Given the description of an element on the screen output the (x, y) to click on. 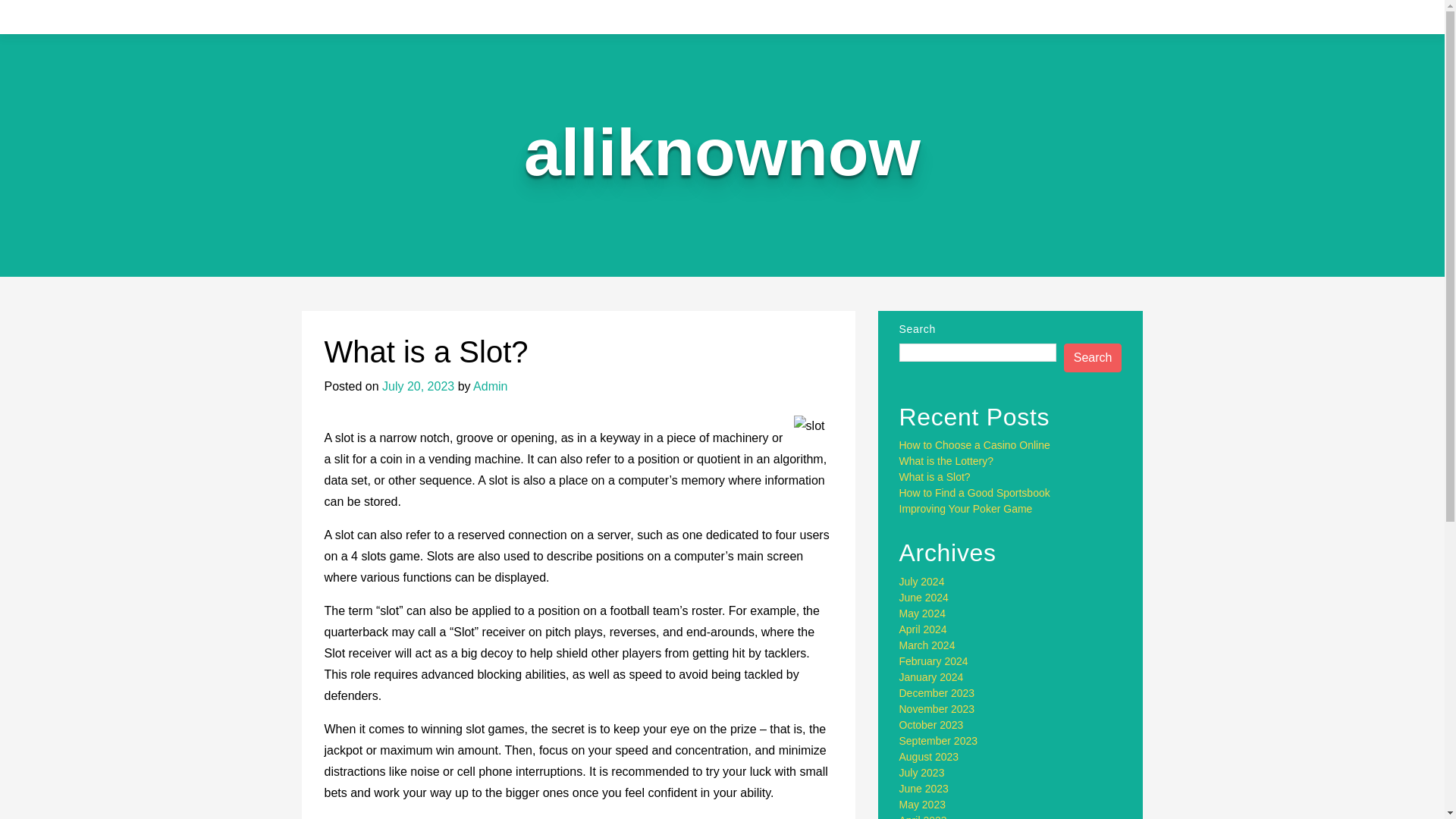
May 2023 (921, 804)
How to Choose a Casino Online (974, 444)
July 2023 (921, 772)
March 2024 (927, 645)
Admin (489, 386)
April 2024 (923, 629)
Improving Your Poker Game (965, 508)
September 2023 (938, 740)
July 20, 2023 (417, 386)
What is the Lottery? (946, 460)
